Given the description of an element on the screen output the (x, y) to click on. 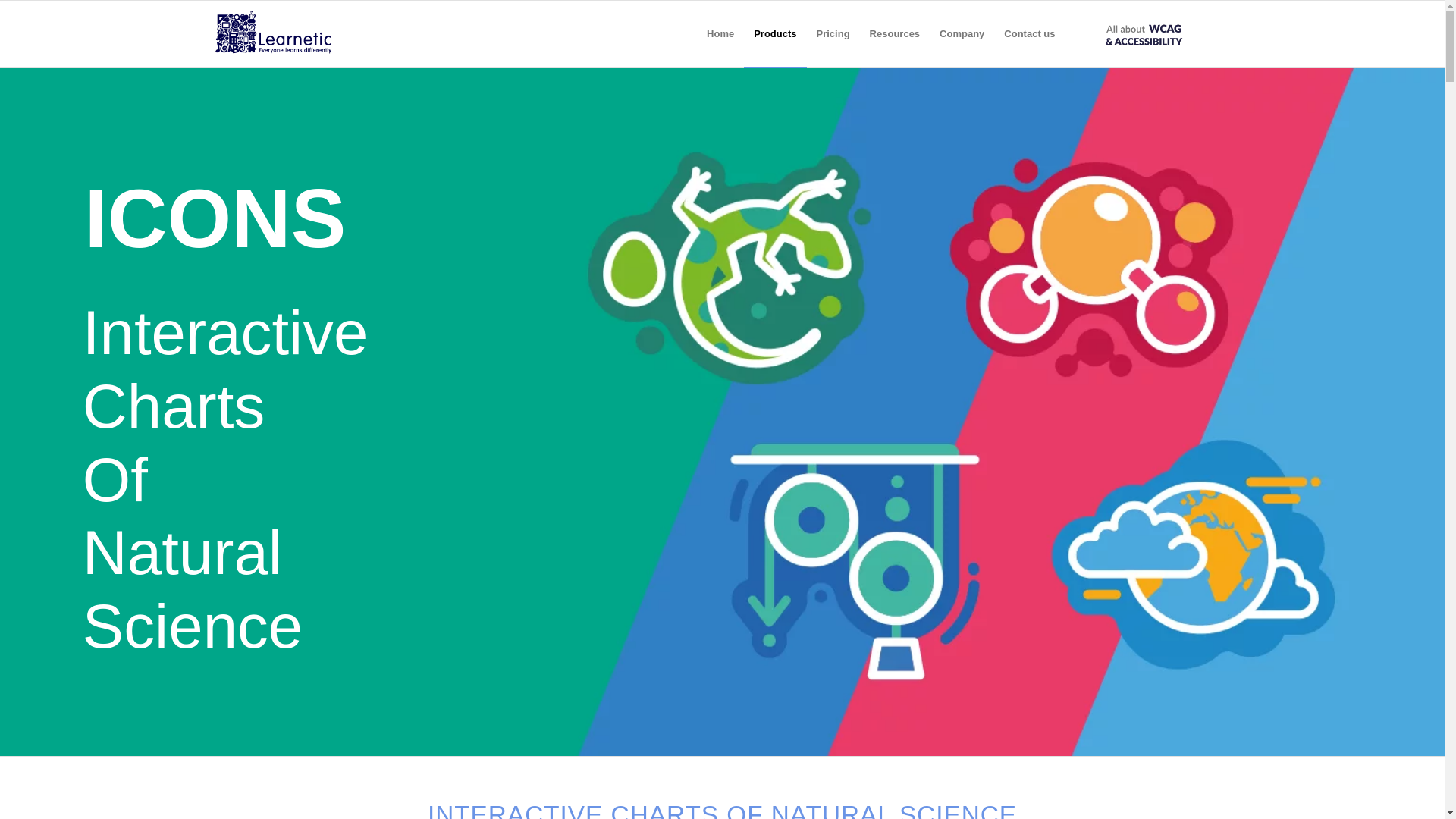
Company (962, 33)
Contact us (1029, 33)
Pricing (833, 33)
Resources (895, 33)
Products (775, 33)
Learnetic-navy blue-logo (288, 33)
Home (720, 33)
